Given the description of an element on the screen output the (x, y) to click on. 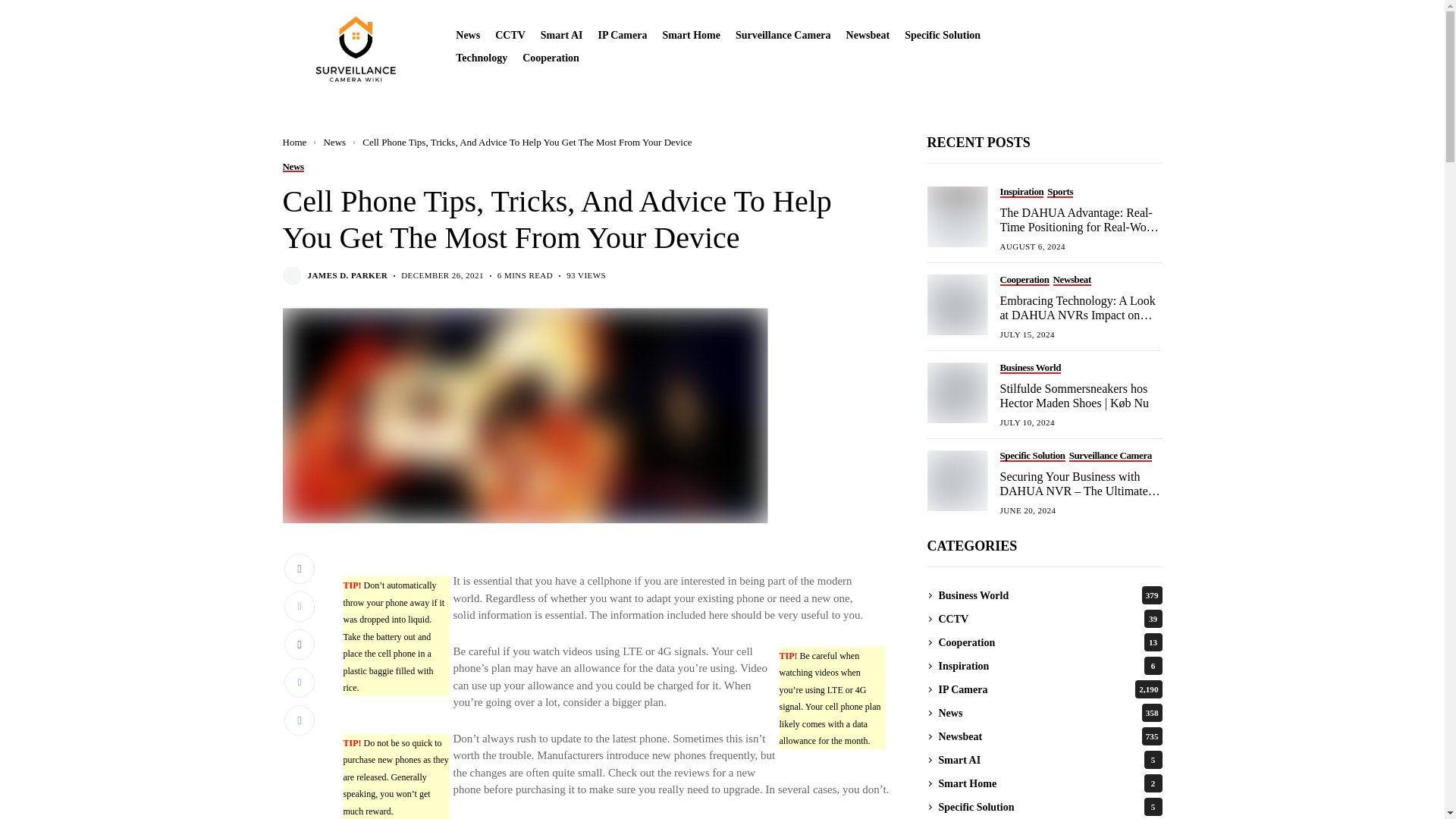
Technology (480, 57)
Surveillance Camera (783, 34)
IP Camera (621, 34)
News (467, 34)
Cooperation (550, 57)
Smart AI (561, 34)
Specific Solution (941, 34)
CCTV (510, 34)
